Given the description of an element on the screen output the (x, y) to click on. 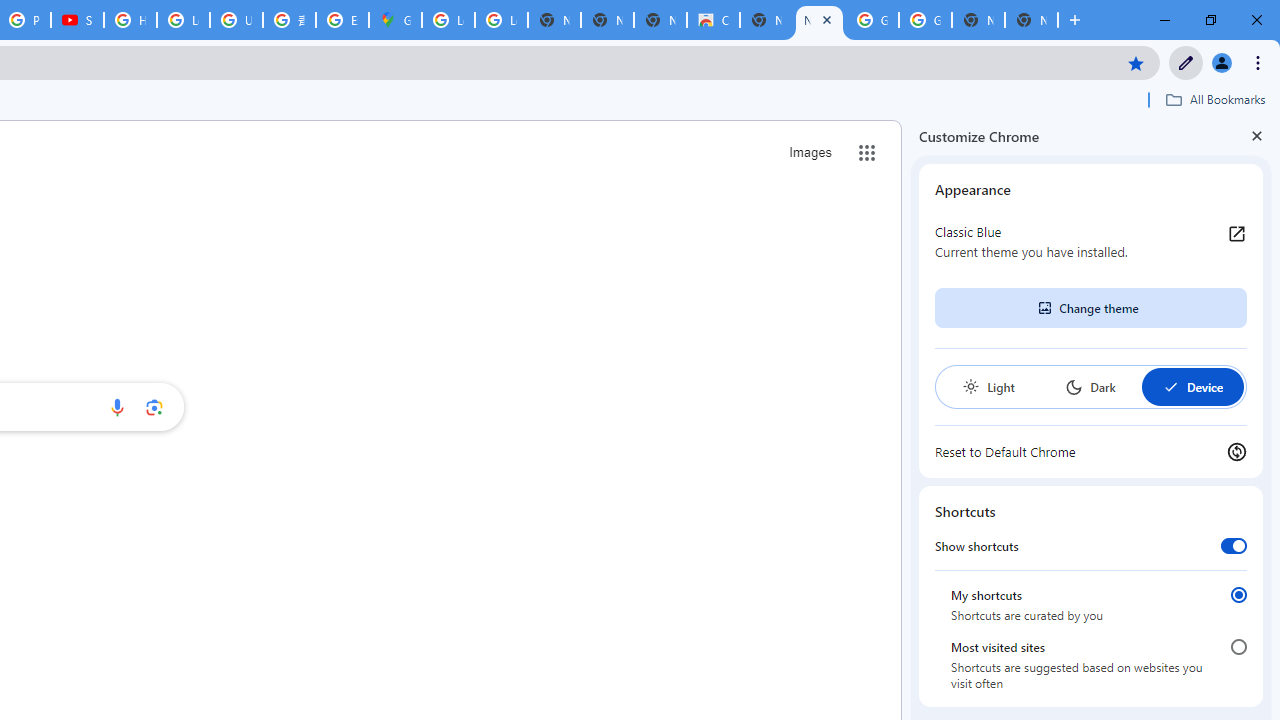
Device (1192, 386)
Classic Blue Current theme you have installed. (1091, 241)
AutomationID: baseSvg (1170, 386)
Search by image (153, 407)
Explore new street-level details - Google Maps Help (342, 20)
Google Images (925, 20)
Most visited sites (1238, 647)
Customize Chrome (1185, 62)
Light (988, 386)
New Tab (1031, 20)
